Given the description of an element on the screen output the (x, y) to click on. 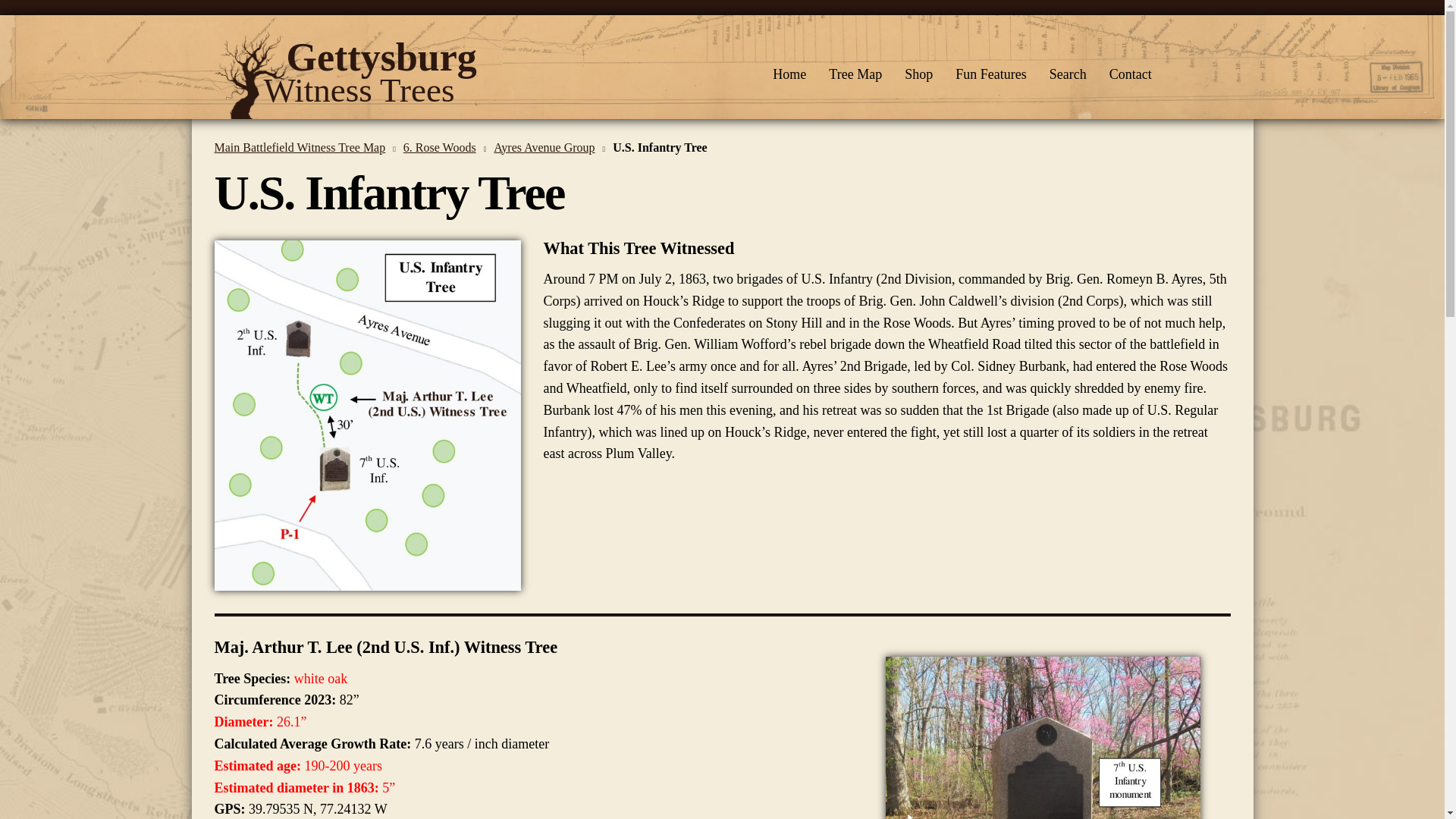
Fun Features (990, 74)
Contact (390, 74)
Main Battlefield Witness Tree Map (1130, 74)
Search (304, 147)
Ayres Avenue Group (1067, 74)
Main Battlefield Witness Tree Map (549, 147)
Home (304, 147)
Ayres Avenue Group (788, 74)
Tree Map (549, 147)
6. Rose Woods (854, 74)
6. Rose Woods (444, 147)
Search (444, 147)
Shop (1198, 144)
